Given the description of an element on the screen output the (x, y) to click on. 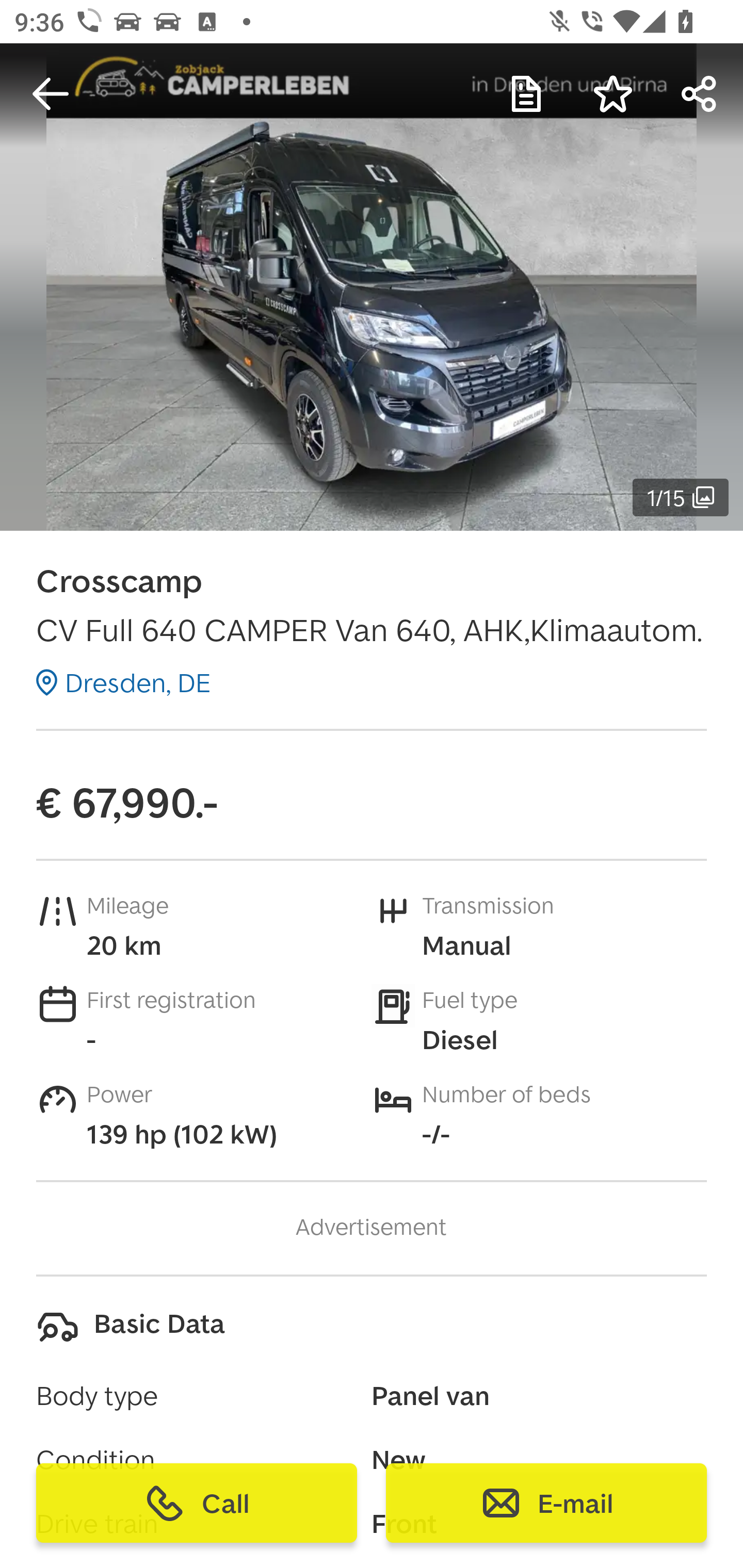
Navigate up (50, 93)
My Notes (525, 93)
Save (612, 93)
Forward (699, 93)
Dresden, DE (123, 681)
Call (196, 1502)
E-mail (545, 1502)
